Given the description of an element on the screen output the (x, y) to click on. 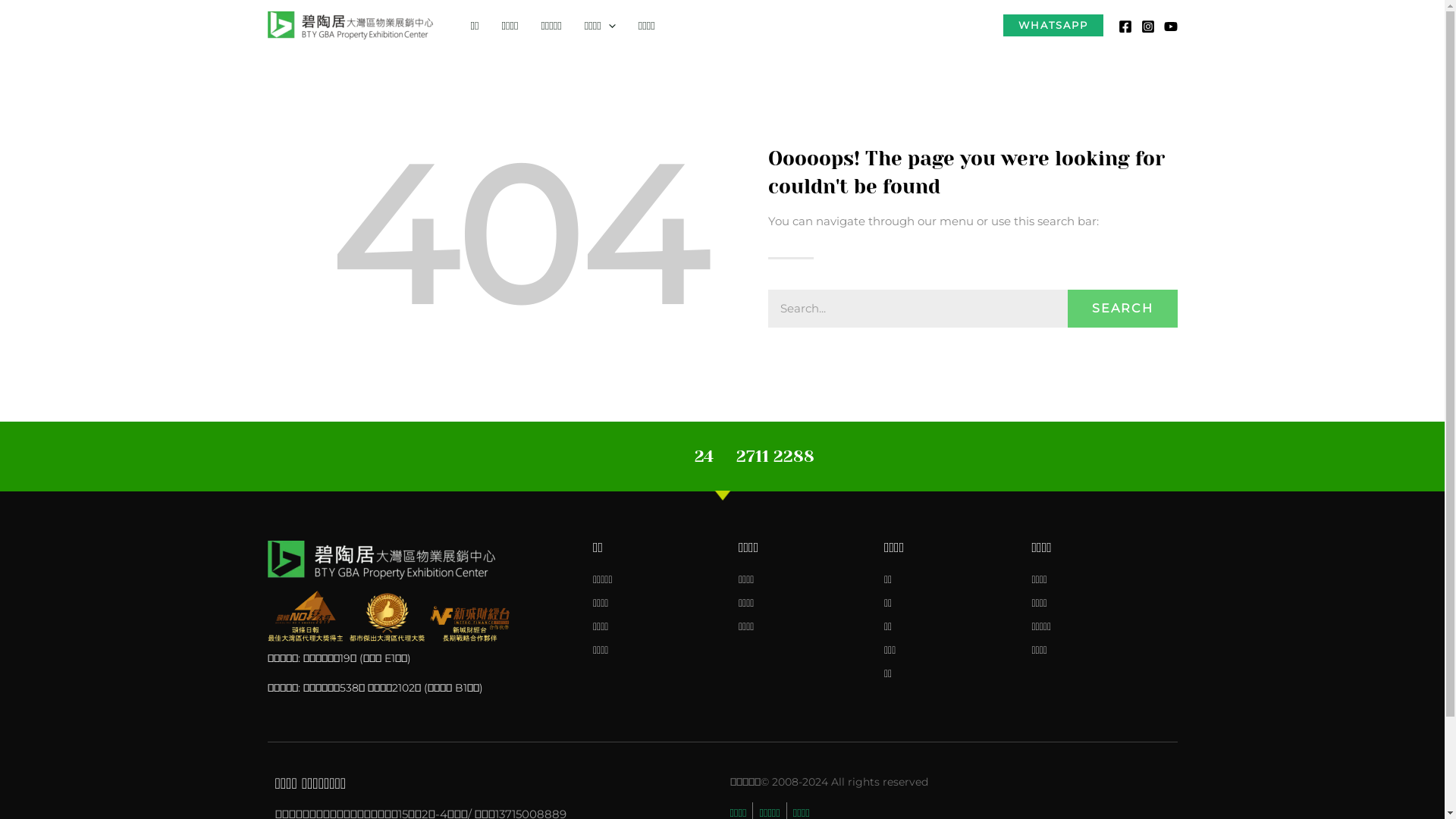
WHATSAPP Element type: text (1052, 25)
SEARCH Element type: text (1122, 308)
